Given the description of an element on the screen output the (x, y) to click on. 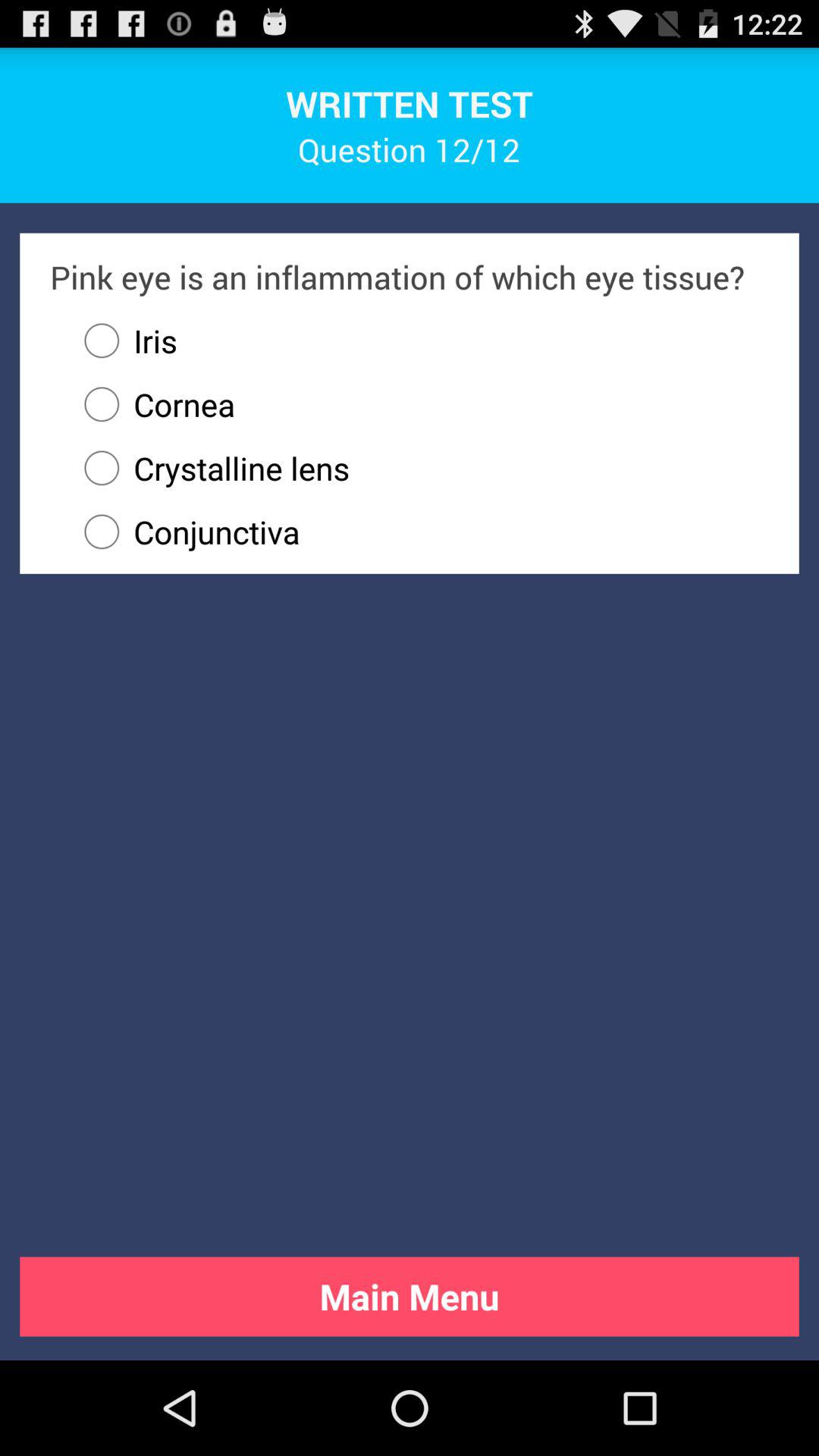
click the conjunctiva icon (418, 531)
